Given the description of an element on the screen output the (x, y) to click on. 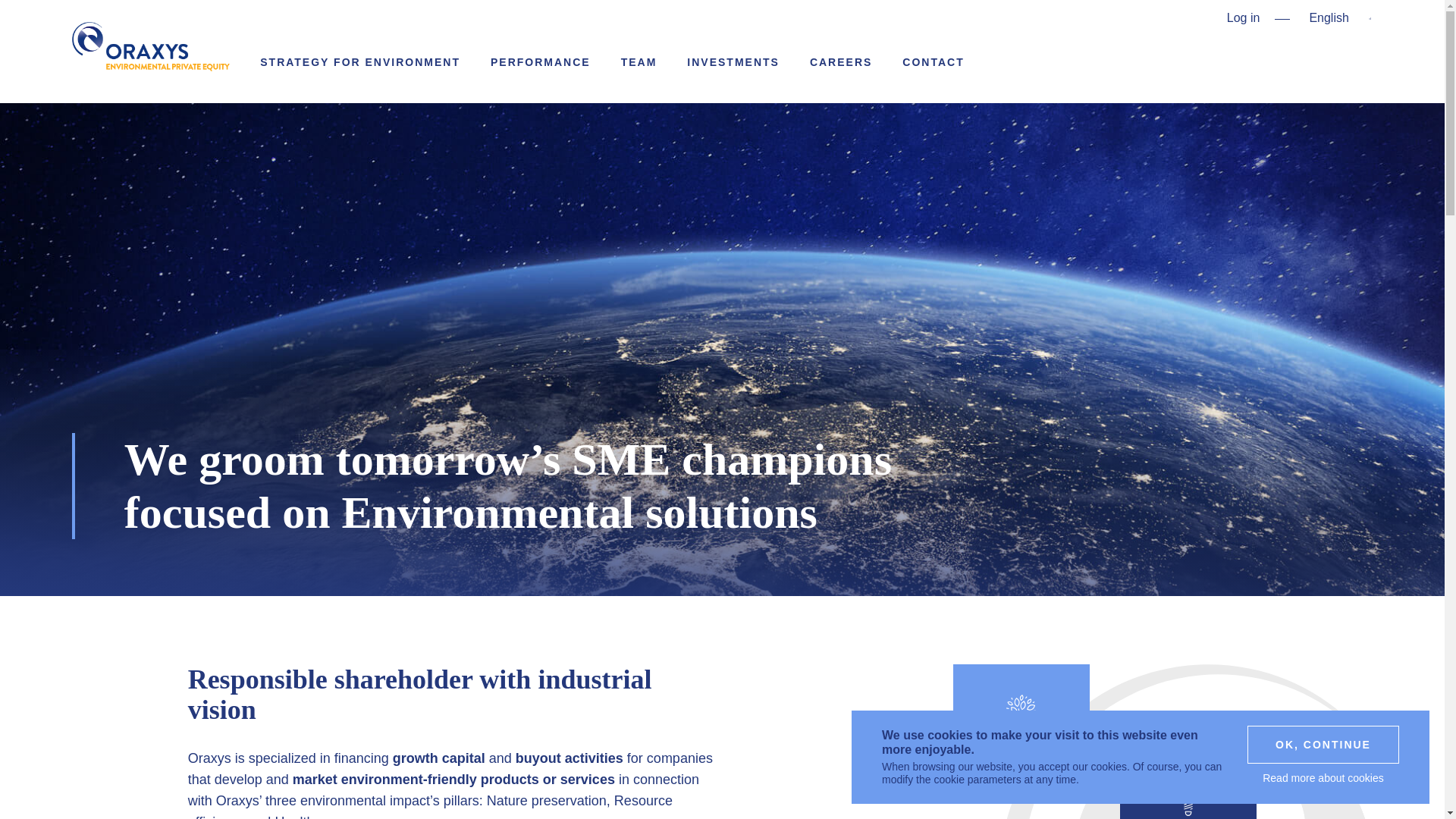
Oraxys (1187, 783)
INVESTMENTS (150, 47)
PERFORMANCE (733, 62)
CONTACT (540, 62)
Log in (933, 62)
STRATEGY FOR ENVIRONMENT (1244, 18)
CAREERS (359, 62)
TEAM (840, 62)
